Given the description of an element on the screen output the (x, y) to click on. 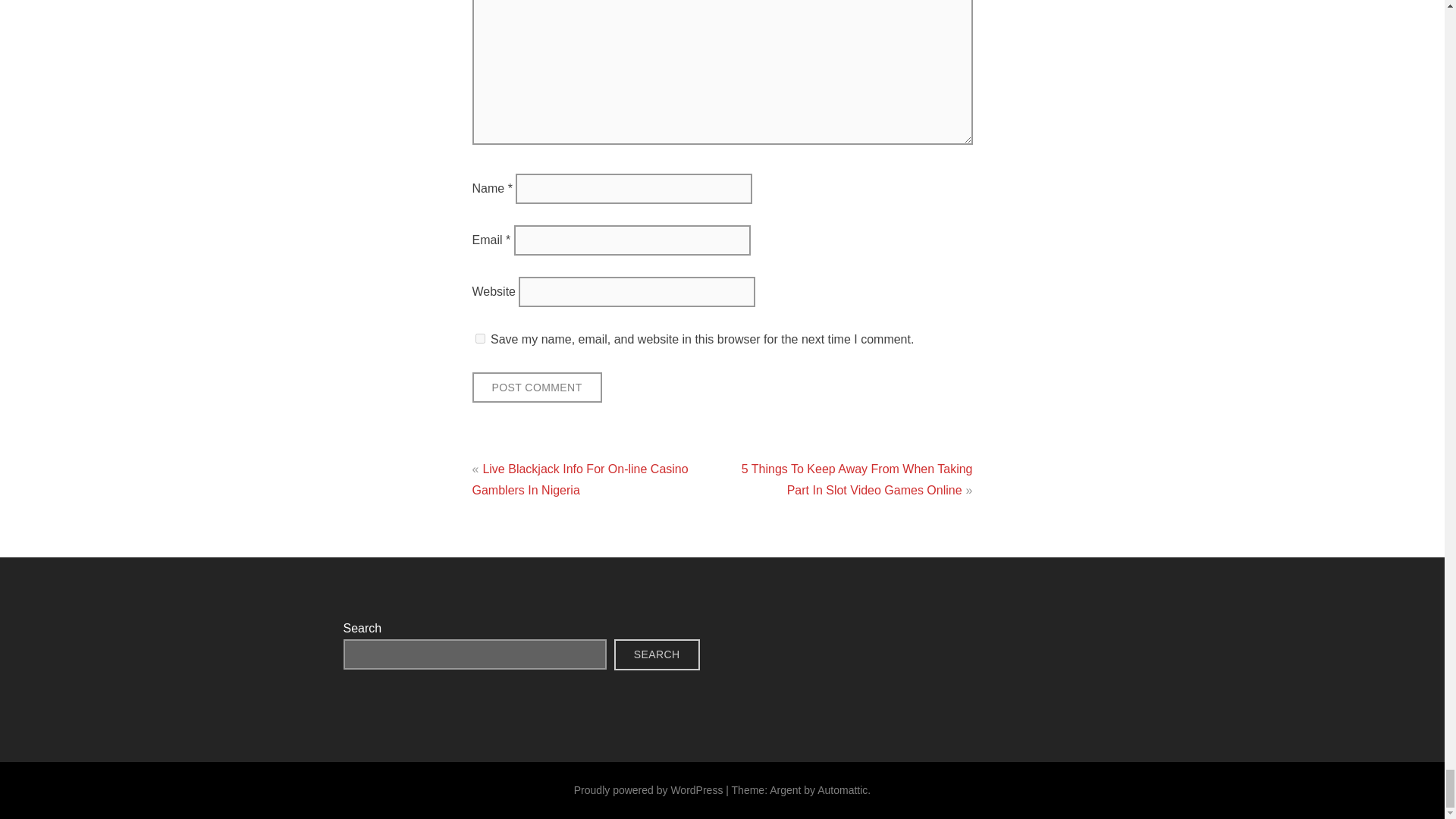
Post Comment (536, 387)
Post Comment (536, 387)
Proudly powered by WordPress (648, 789)
yes (479, 338)
SEARCH (657, 654)
Live Blackjack Info For On-line Casino Gamblers In Nigeria (579, 479)
Automattic (841, 789)
